Given the description of an element on the screen output the (x, y) to click on. 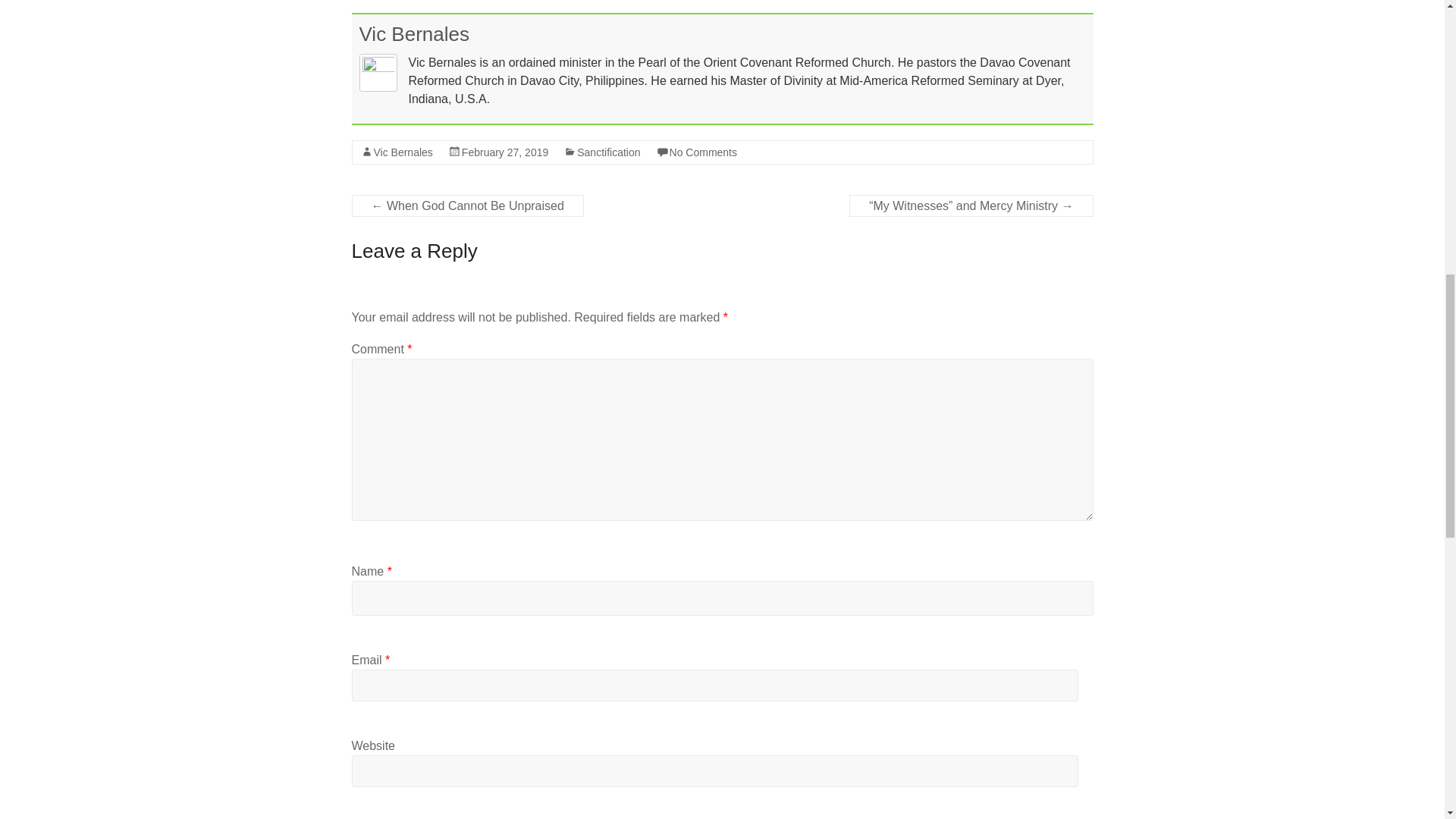
All posts by Vic Bernales (414, 33)
Vic Bernales (402, 152)
February 27, 2019 (504, 152)
Vic Bernales (414, 33)
4:57 pm (504, 152)
No Comments (702, 152)
Sanctification (608, 152)
